Given the description of an element on the screen output the (x, y) to click on. 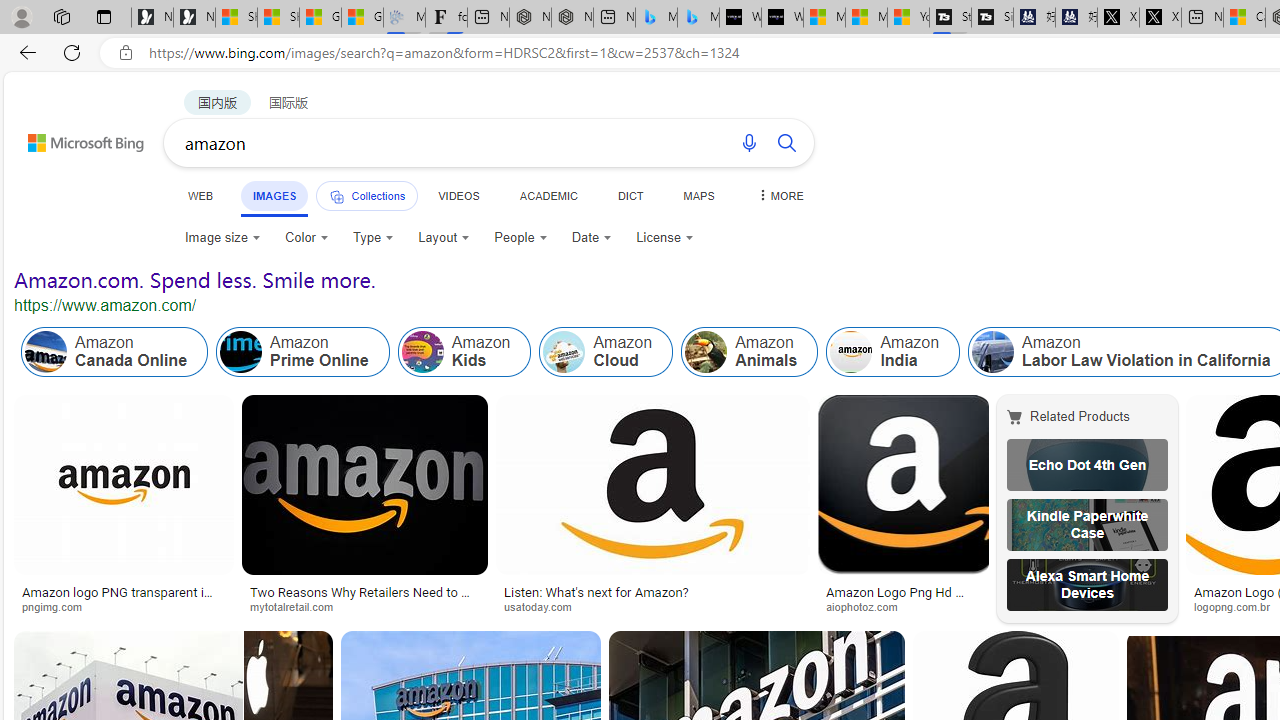
Image result for amazon (903, 485)
Class: b_pri_nav_svg (336, 196)
Amazon Logo Png Hd Wallpaper | Images and Photos finder (903, 598)
Amazon.com. Spend less. Smile more. (195, 280)
People (521, 237)
MAPS (698, 195)
Search button (786, 142)
Amazon Animals (749, 351)
MAPS (698, 195)
